Given the description of an element on the screen output the (x, y) to click on. 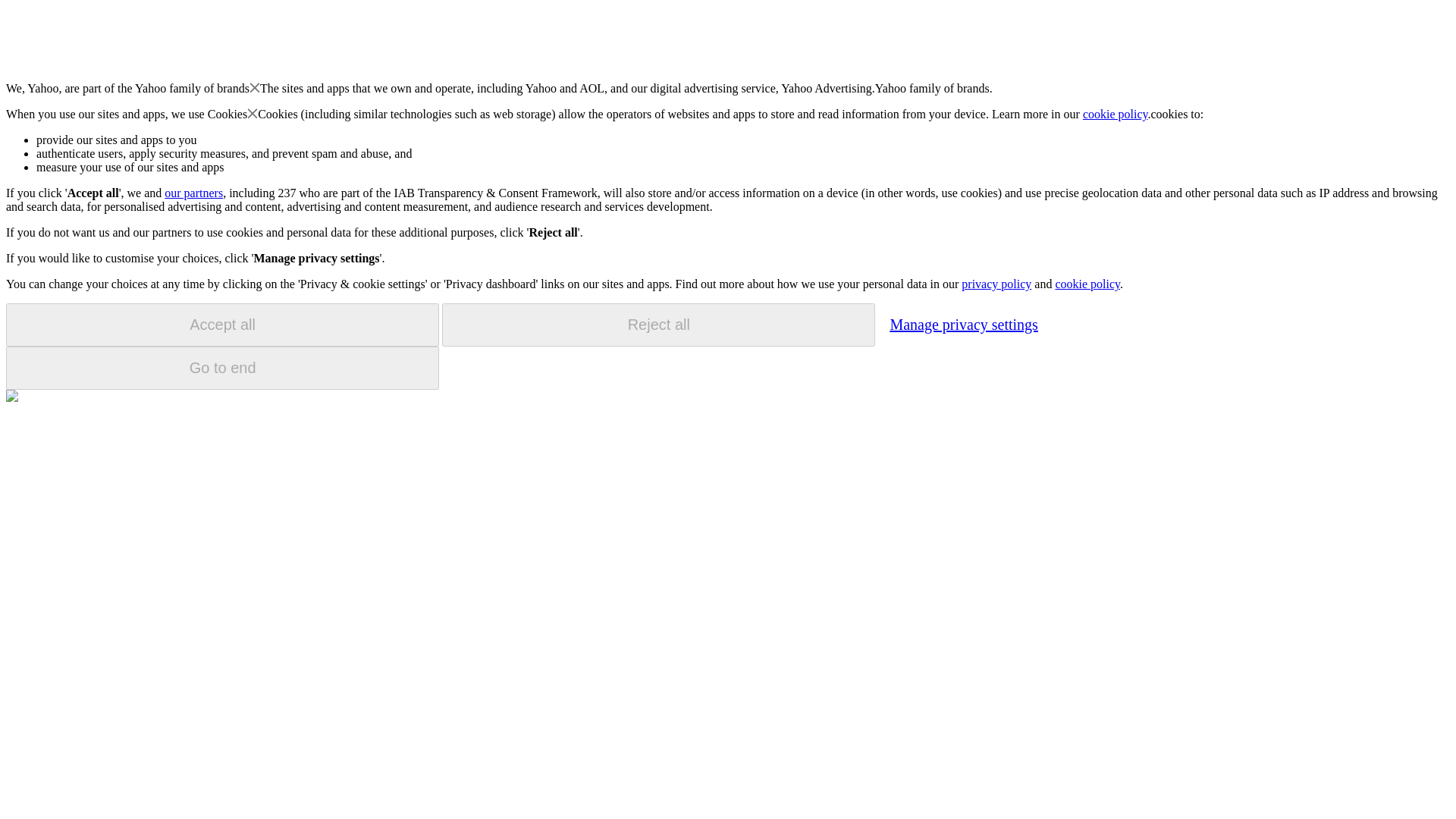
Go to end (222, 367)
Accept all (222, 324)
Reject all (658, 324)
our partners (193, 192)
privacy policy (995, 283)
cookie policy (1115, 113)
cookie policy (1086, 283)
Manage privacy settings (963, 323)
